Given the description of an element on the screen output the (x, y) to click on. 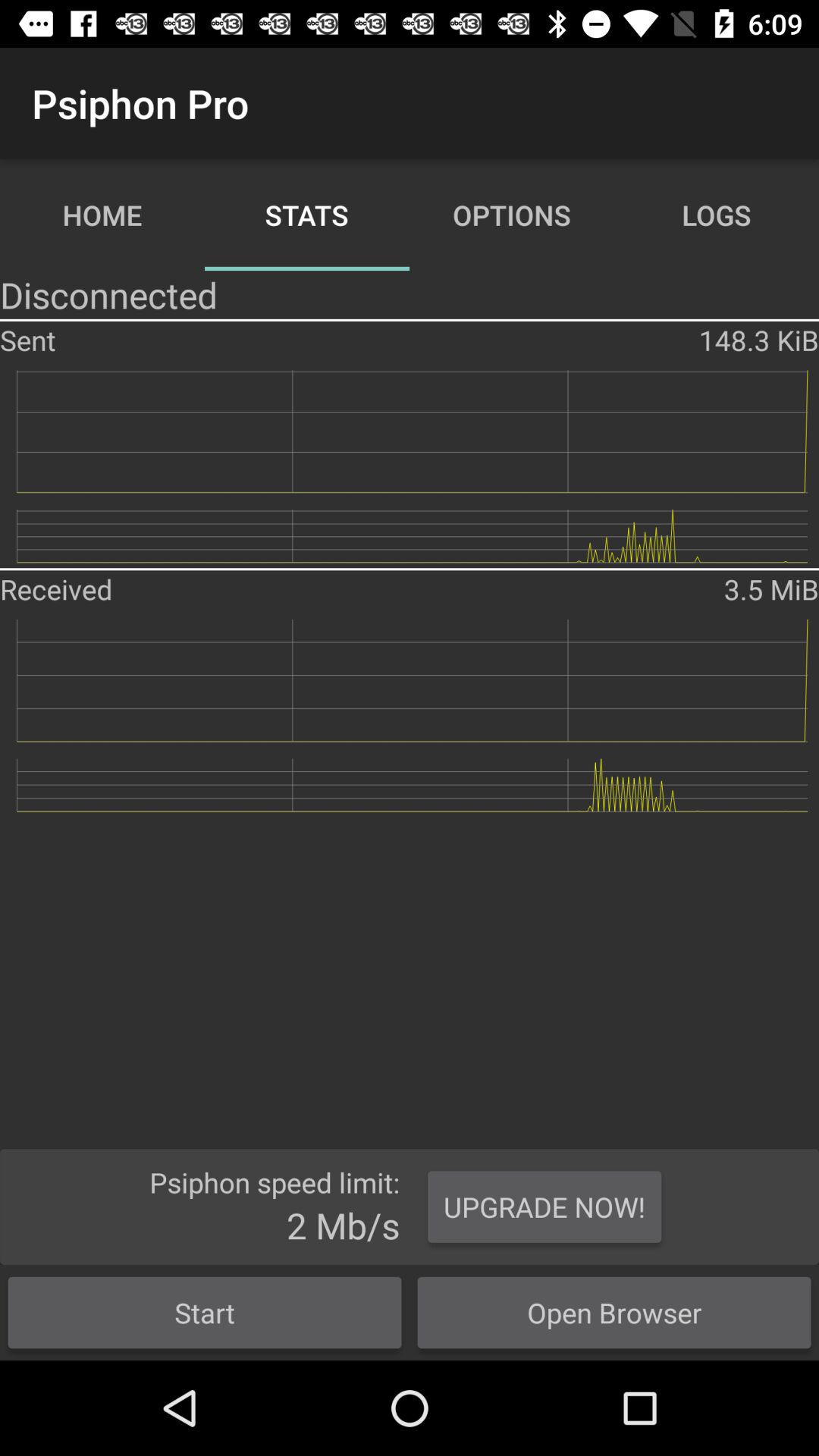
launch the open browser (614, 1312)
